Given the description of an element on the screen output the (x, y) to click on. 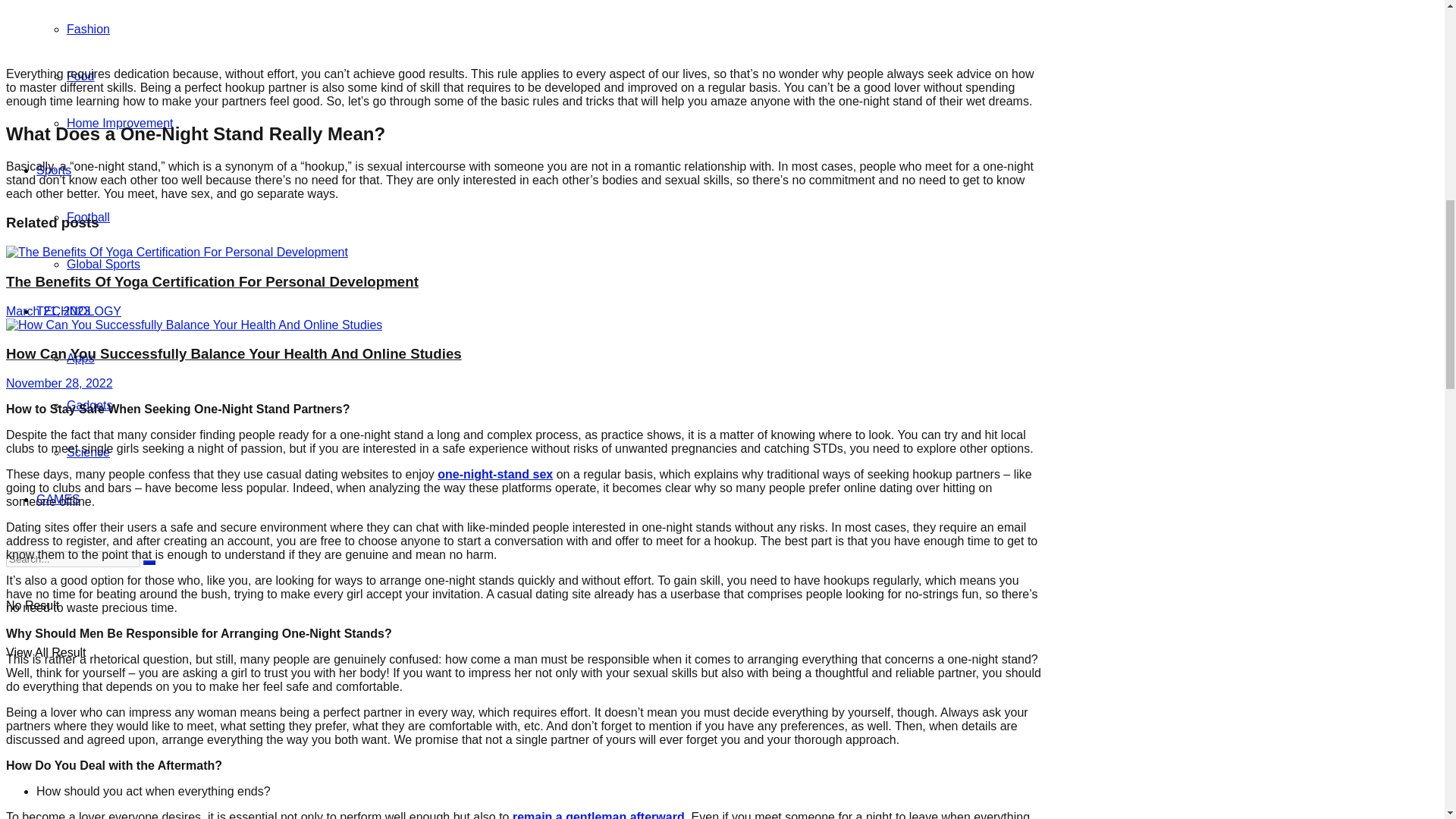
Home Improvement (119, 123)
Global Sports (102, 264)
Fashion (88, 29)
Apps (80, 358)
Football (88, 216)
Food (80, 75)
TECHNOLOGY (78, 310)
Gadgets (89, 404)
Sports (53, 169)
Science (88, 451)
GAMES (58, 499)
